Given the description of an element on the screen output the (x, y) to click on. 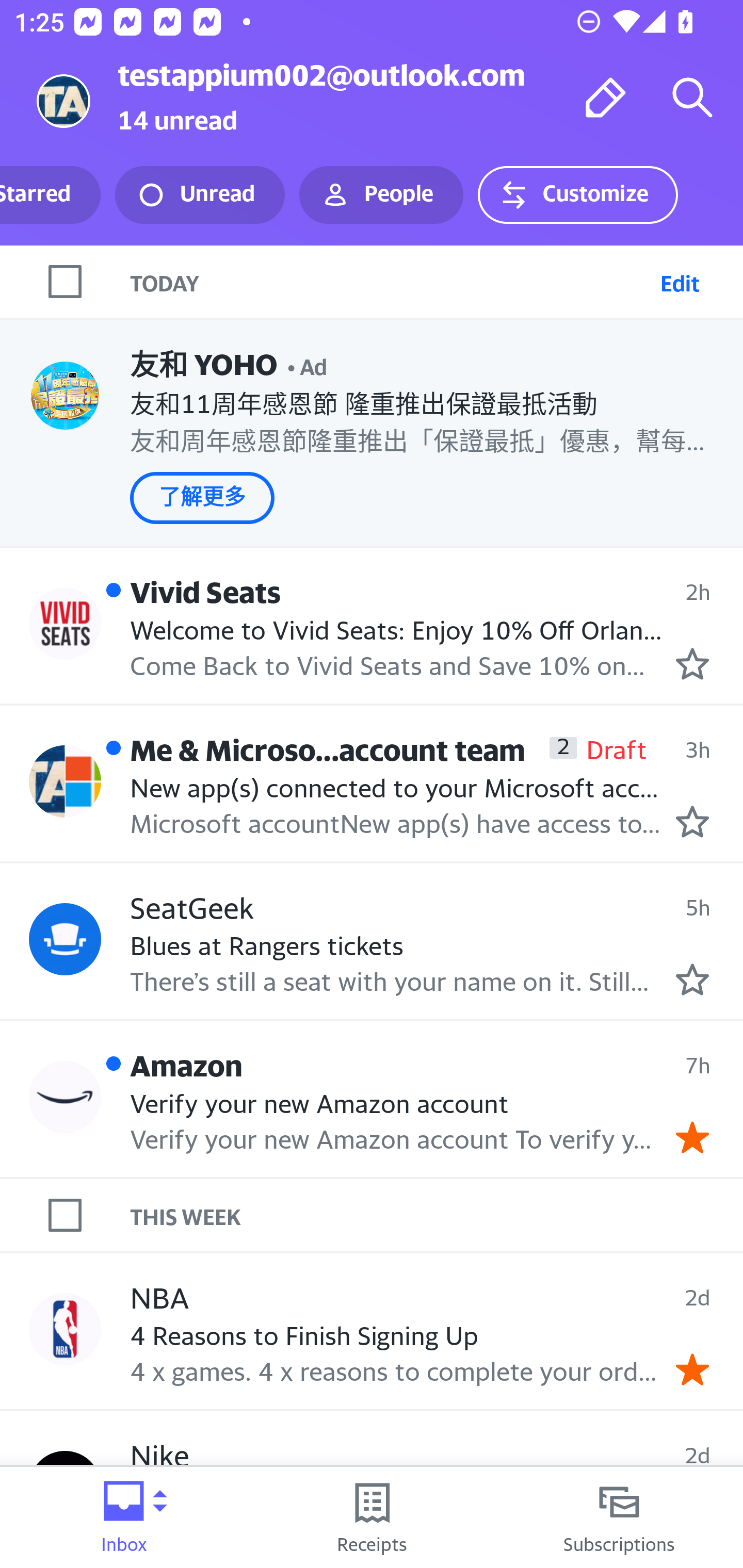
Compose (605, 97)
Search mail (692, 97)
Unread (199, 195)
People (381, 195)
Customize (577, 195)
TODAY (391, 281)
Edit Select emails (679, 281)
Profile
Vivid Seats (64, 624)
Mark as starred. (692, 664)
Profile
Me & Microsoft account team (64, 780)
Mark as starred. (692, 821)
Profile
SeatGeek (64, 939)
Mark as starred. (692, 979)
Profile
Amazon (64, 1097)
Remove star. (692, 1137)
THIS WEEK (436, 1215)
Profile
NBA (64, 1329)
Remove star. (692, 1369)
Inbox Folder picker (123, 1517)
Receipts (371, 1517)
Subscriptions (619, 1517)
